Given the description of an element on the screen output the (x, y) to click on. 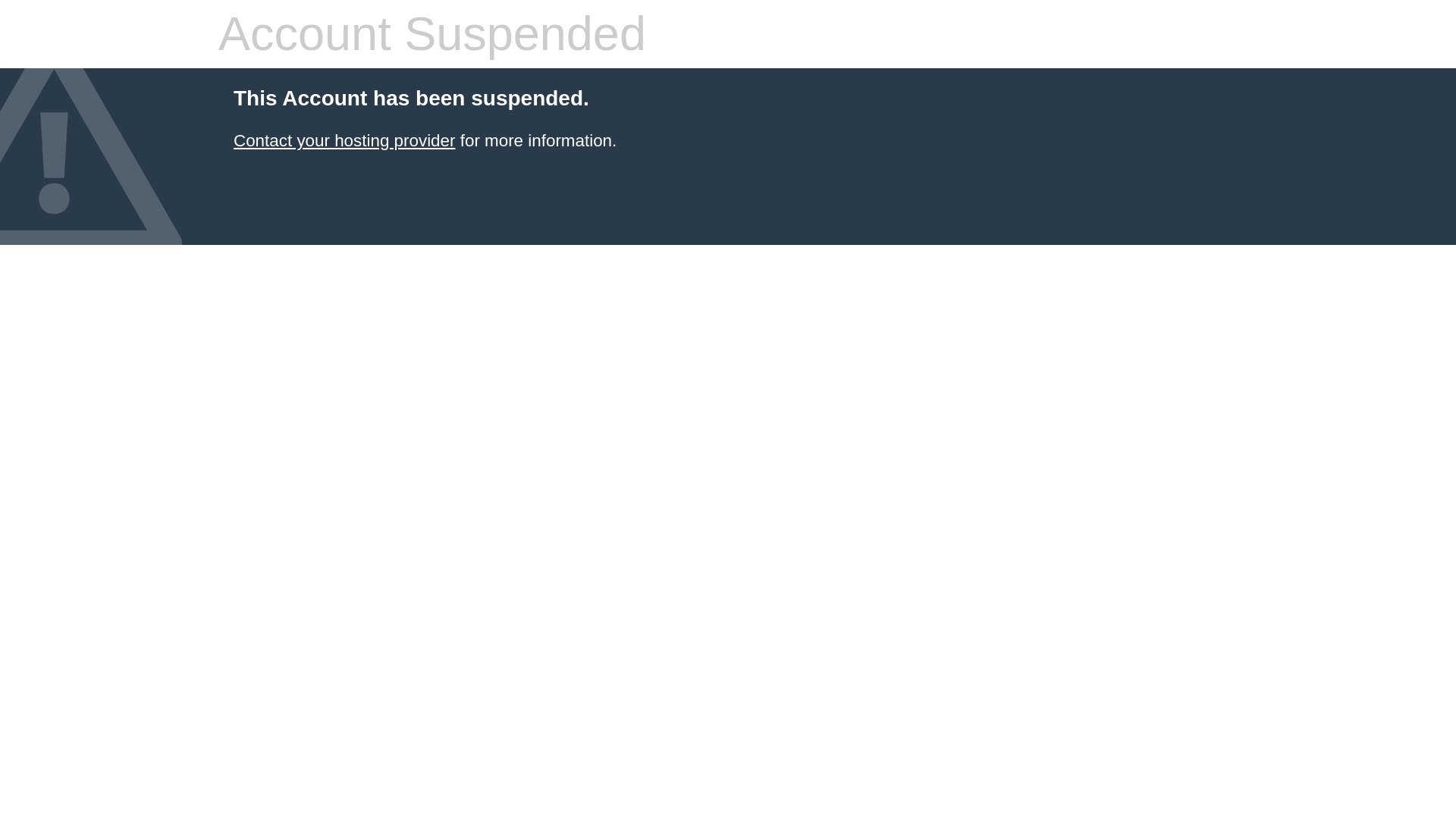
Contact your hosting provider (343, 140)
